Given the description of an element on the screen output the (x, y) to click on. 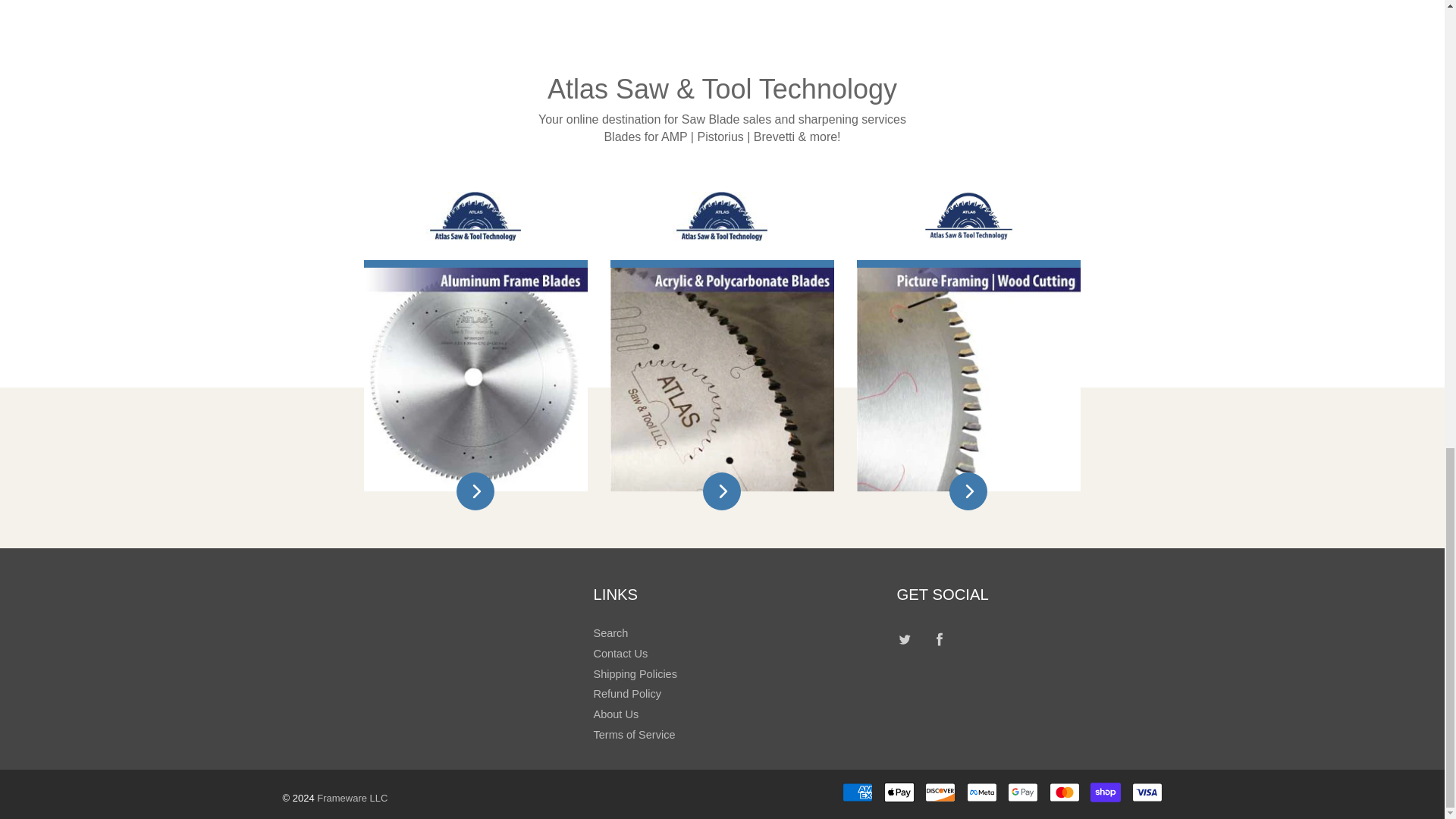
Apple Pay (898, 792)
Meta Pay (981, 792)
Facebook (939, 638)
Google Pay (1022, 792)
American Express (857, 792)
Discover (939, 792)
Shop Pay (1105, 792)
Twitter (904, 638)
Mastercard (1064, 792)
Visa (1146, 792)
